Given the description of an element on the screen output the (x, y) to click on. 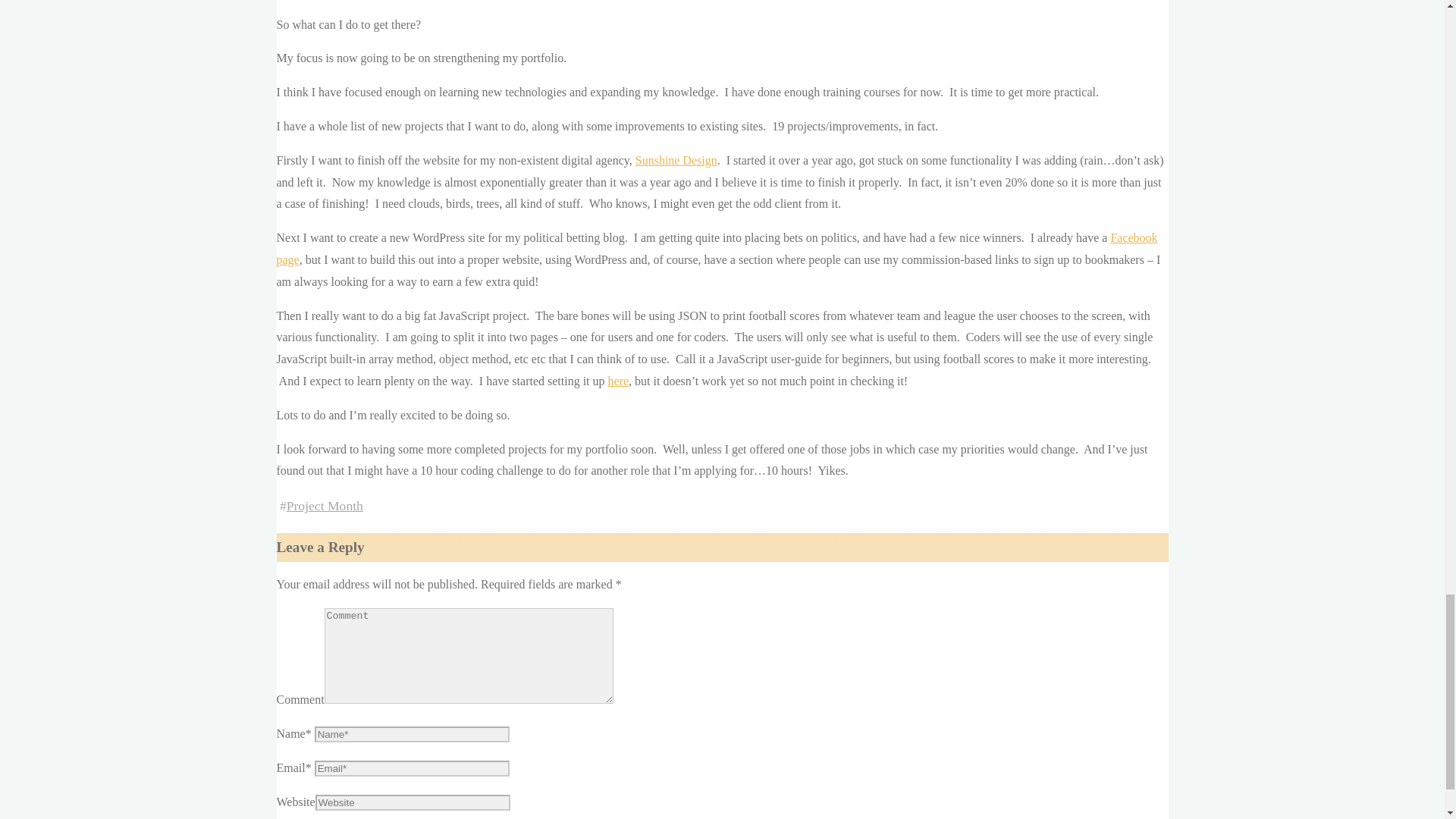
Project Month (324, 505)
Sunshine Design (675, 160)
Facebook page (716, 248)
here (618, 380)
